Given the description of an element on the screen output the (x, y) to click on. 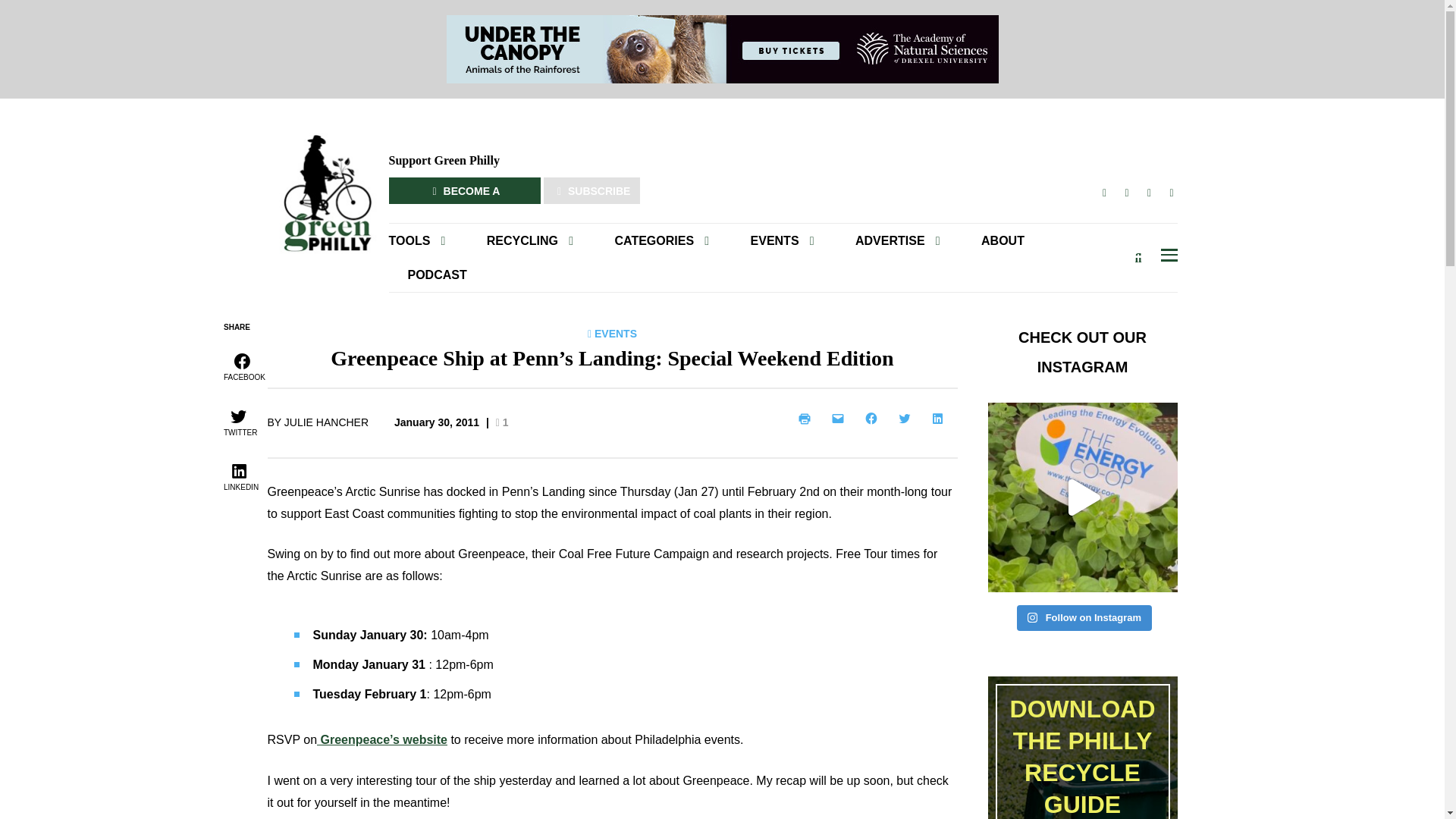
Click to share on Facebook (242, 365)
Click to share on LinkedIn (239, 475)
TOOLS (426, 240)
Click to share on Twitter (906, 418)
Subscribe (935, 278)
Click to print (807, 418)
SUBSCRIBE (591, 190)
Click to share on Facebook (873, 418)
Click to share on Twitter (238, 420)
BIKING (675, 266)
Click to share on LinkedIn (939, 418)
BECOME A SUPPORTER (464, 190)
RECYCLING (529, 240)
CSA GUIDE (529, 266)
